Given the description of an element on the screen output the (x, y) to click on. 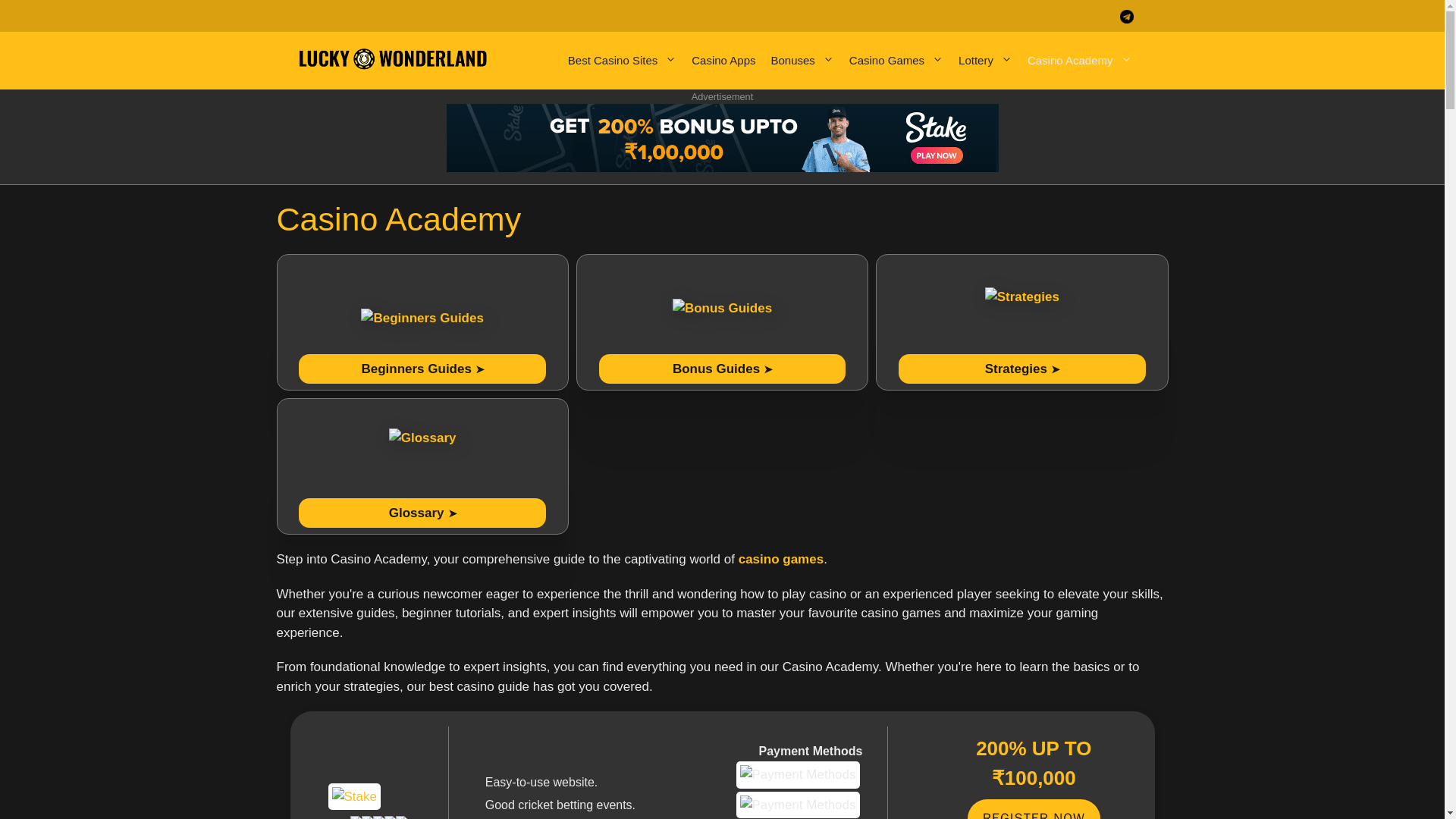
Bonuses (809, 60)
Payment Methods (797, 774)
Best Casino Sites (629, 60)
Stake (353, 796)
Casino Apps (730, 60)
Payment Methods (797, 805)
Casino Games (903, 60)
